Given the description of an element on the screen output the (x, y) to click on. 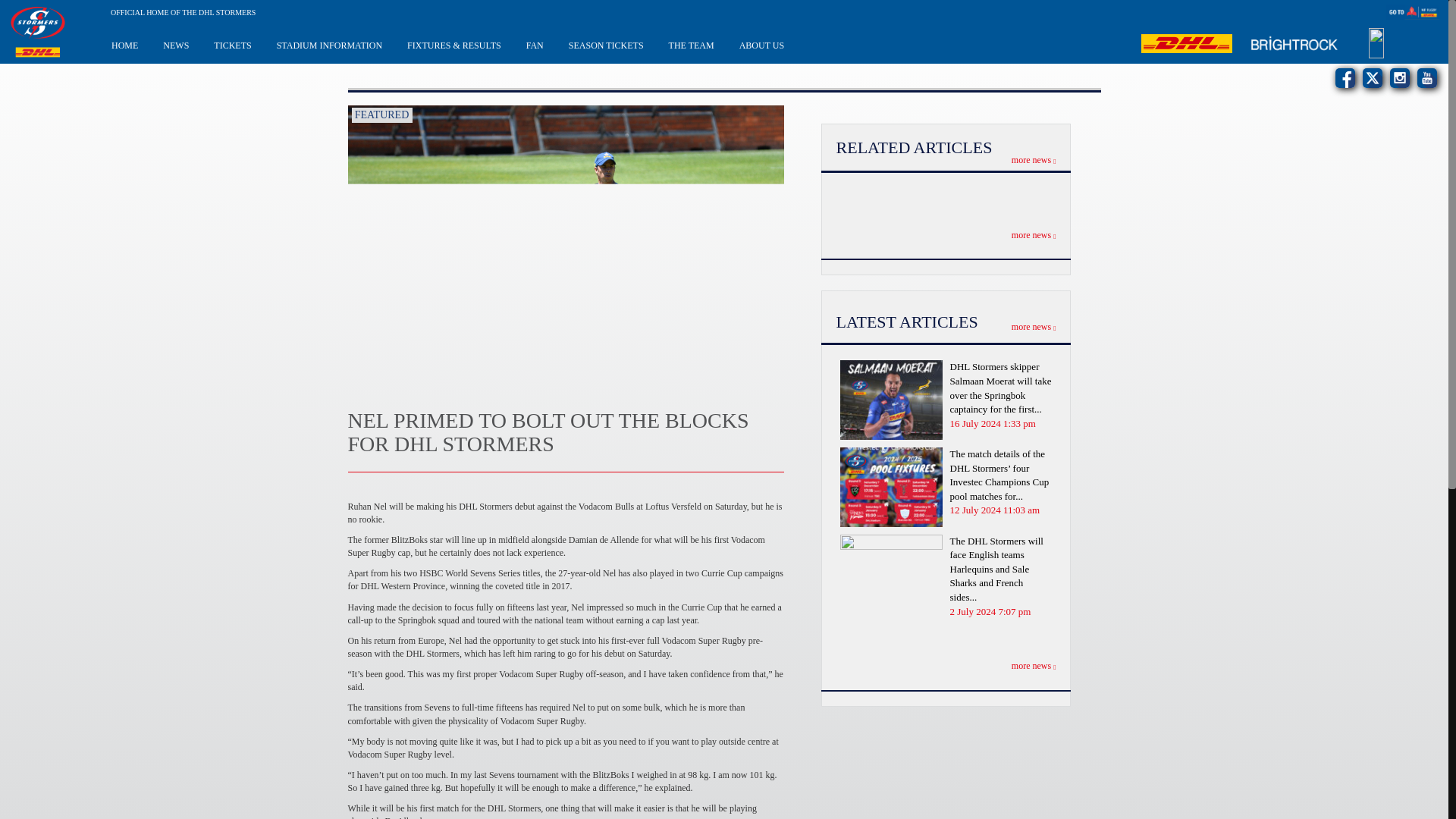
more news (1034, 159)
more news (1034, 235)
SEASON TICKETS (606, 44)
THE TEAM (691, 44)
TICKETS (232, 44)
STADIUM INFORMATION (328, 44)
more news (1034, 326)
ABOUT US (761, 44)
more news (1034, 665)
